Given the description of an element on the screen output the (x, y) to click on. 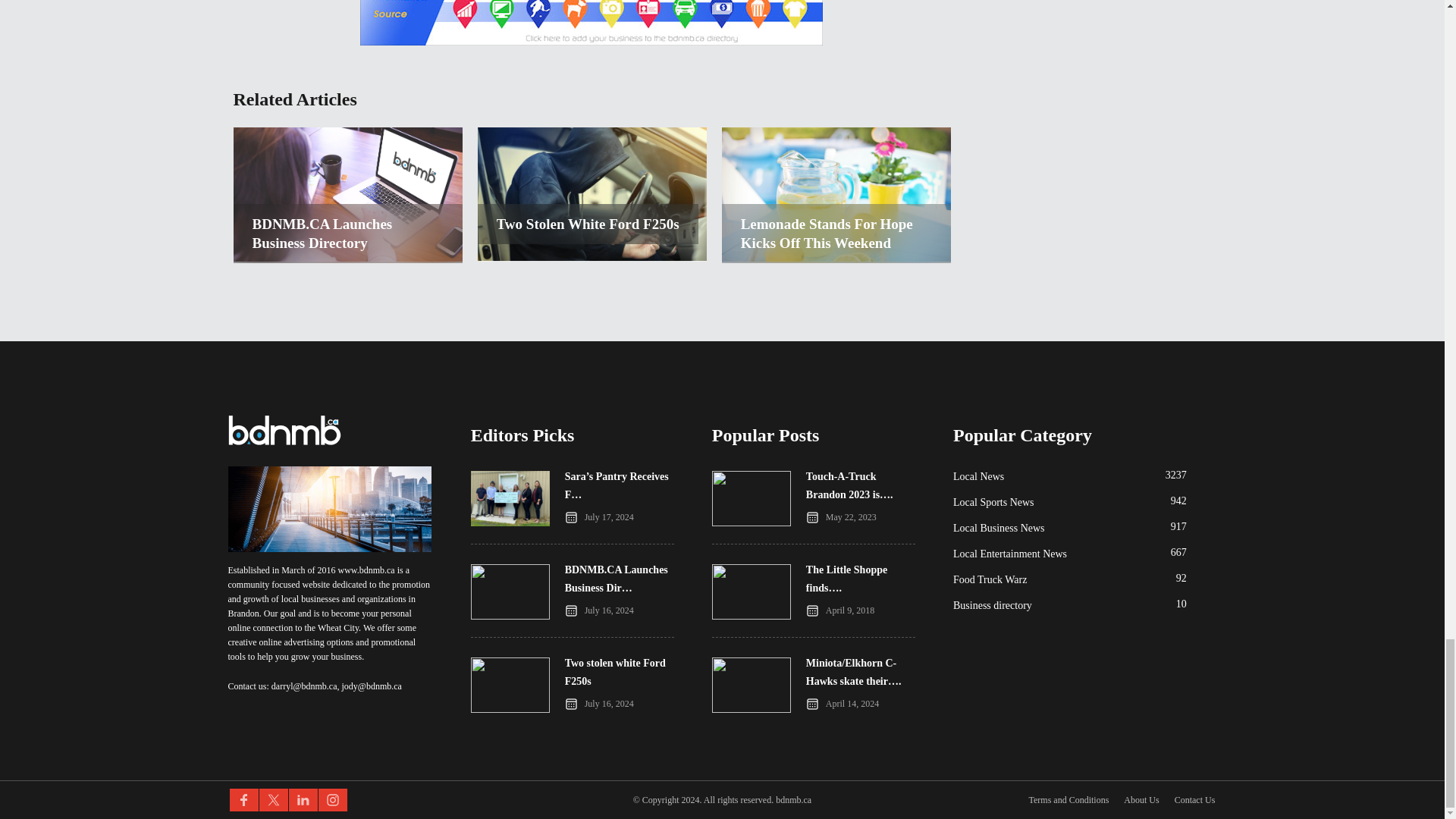
BDNMB.CA Launches Business Directory (346, 233)
Two stolen white Ford F250s (591, 257)
Lemonade Stands for Hope Kicks Off This Weekend (836, 233)
Lemonade Stands for Hope Kicks Off This Weekend (836, 257)
BDNMB.CA Launches Business Directory (347, 257)
Two stolen white Ford F250s (587, 223)
